Given the description of an element on the screen output the (x, y) to click on. 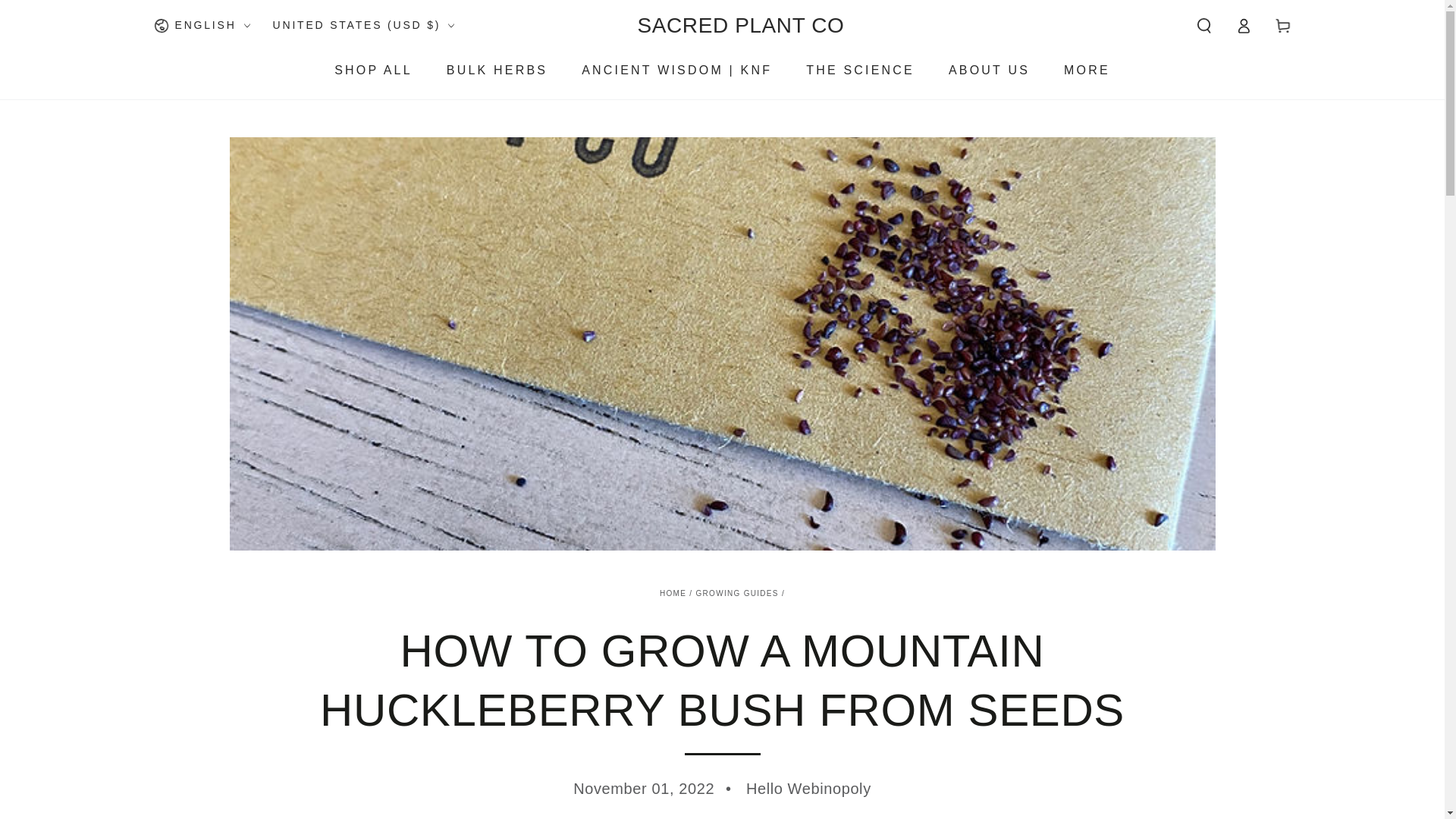
SHOP ALL (373, 69)
SKIP TO CONTENT (67, 14)
SACRED PLANT CO (740, 25)
ENGLISH (200, 25)
Back to the frontpage (672, 592)
